Given the description of an element on the screen output the (x, y) to click on. 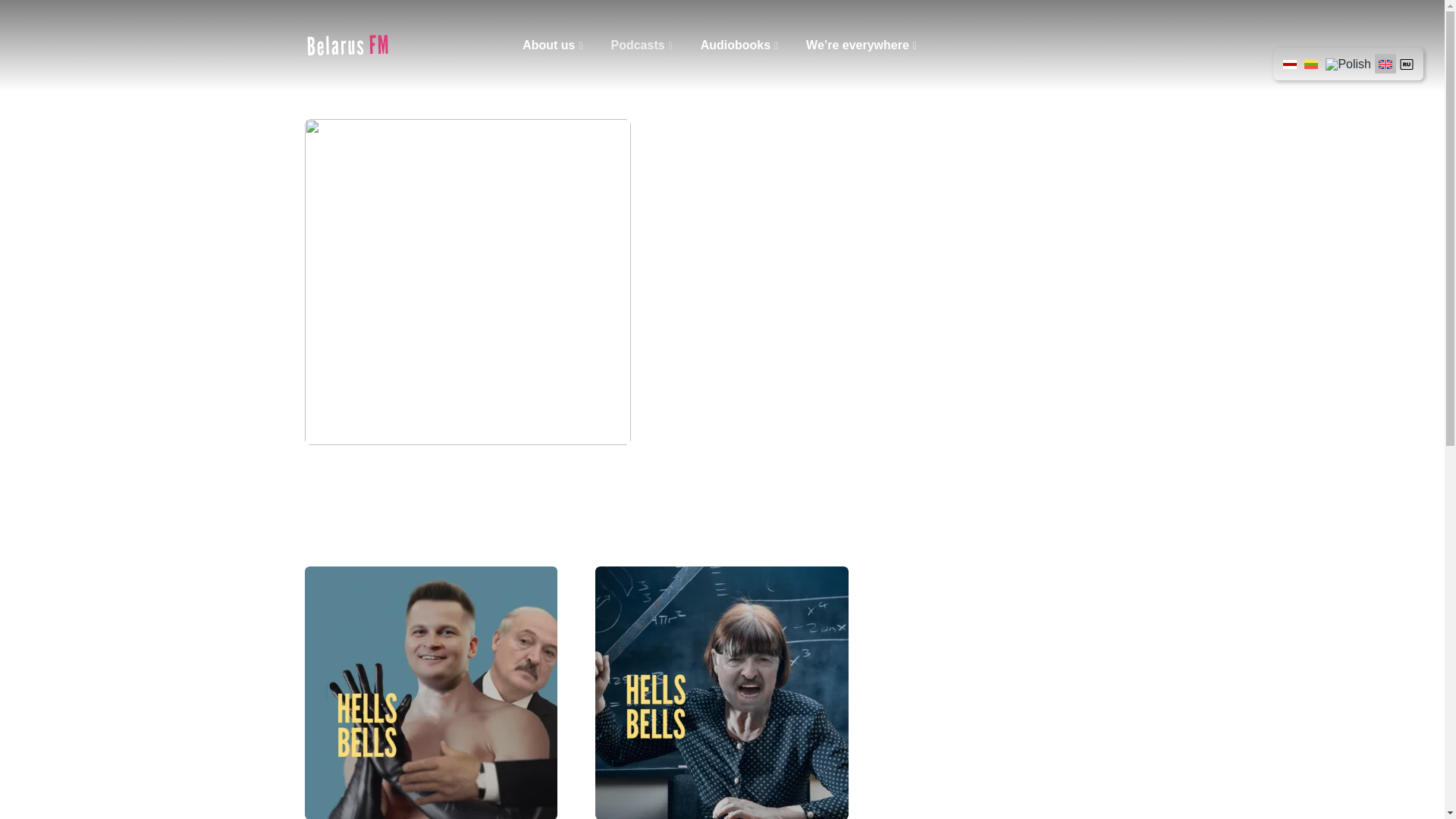
Audiobooks (741, 45)
About us (555, 45)
Podcasts (643, 45)
